Given the description of an element on the screen output the (x, y) to click on. 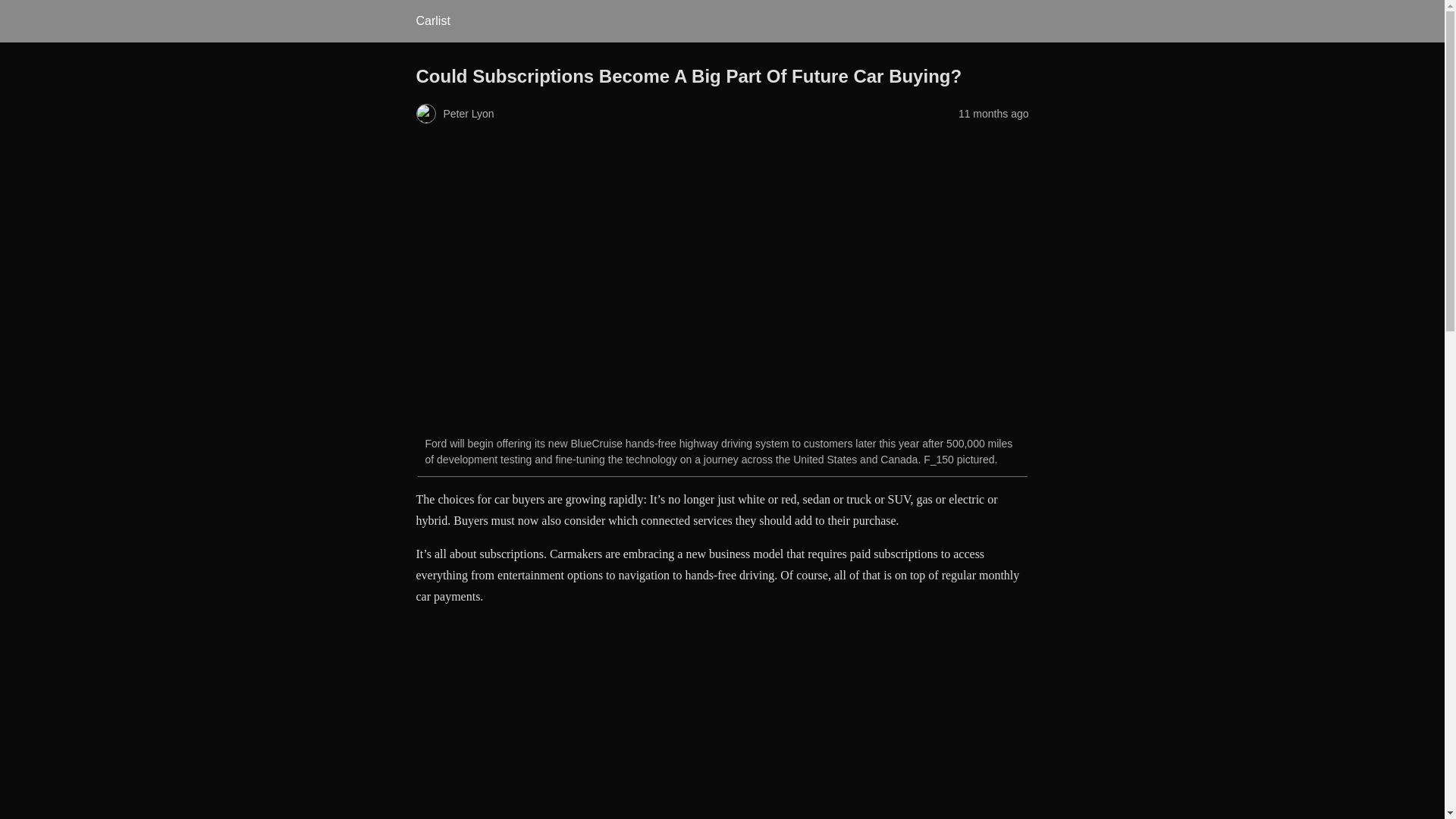
Carlist (431, 20)
